Given the description of an element on the screen output the (x, y) to click on. 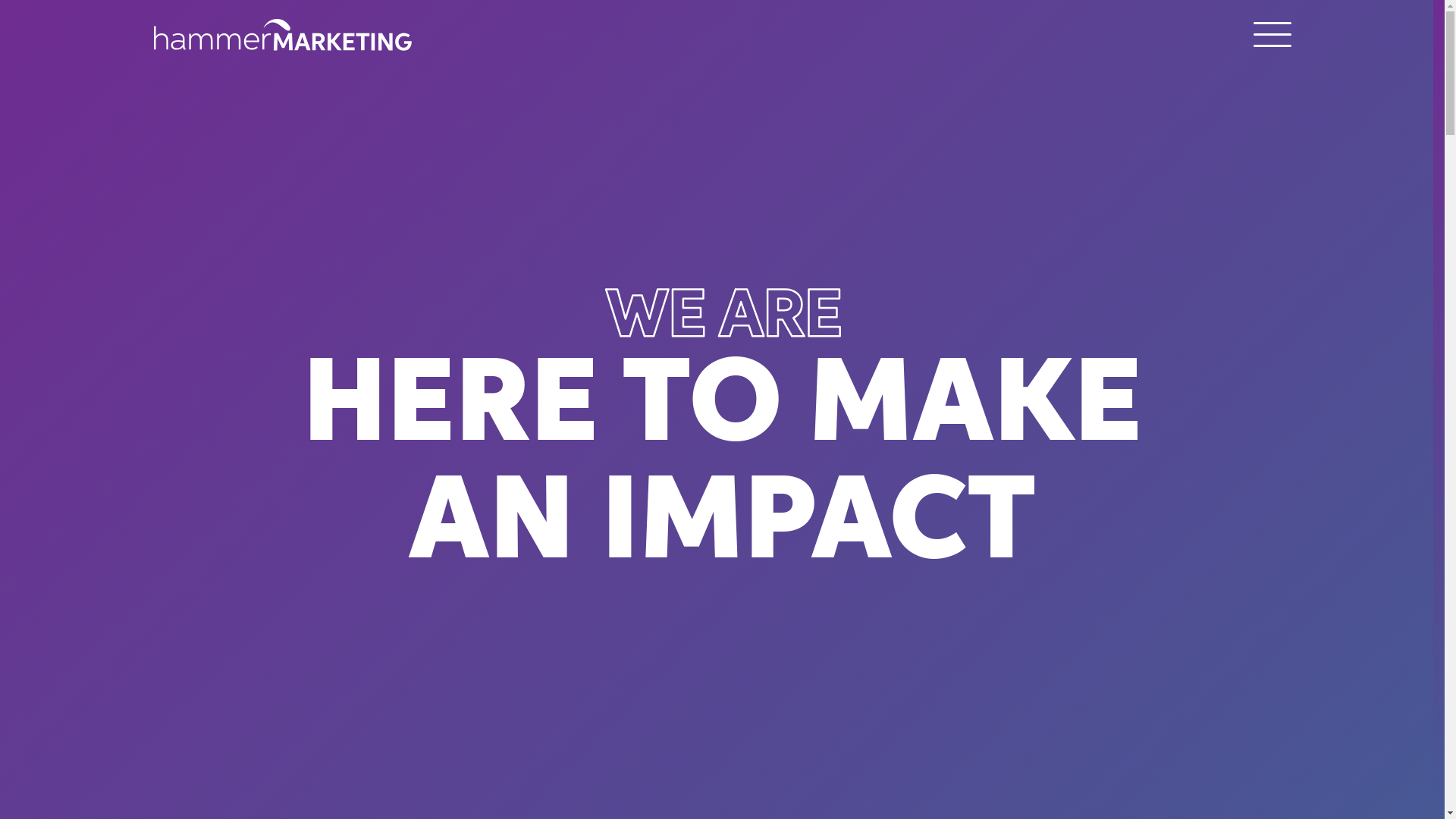
Skip to the content Element type: text (1442, 3)
Hammer Marketing Element type: hover (282, 37)
